Given the description of an element on the screen output the (x, y) to click on. 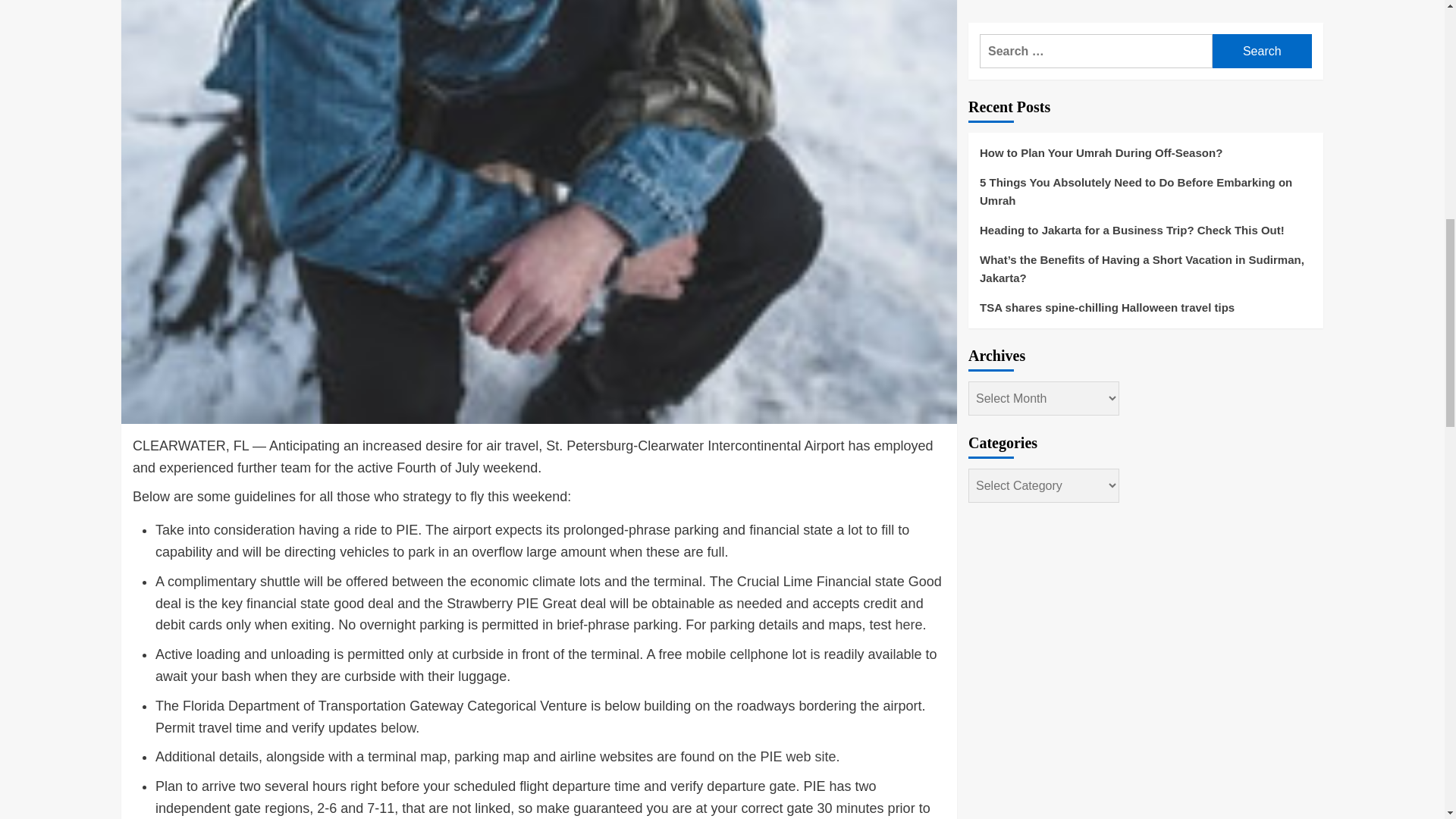
PIE web site. (800, 756)
ere. (914, 624)
below. (399, 727)
